Given the description of an element on the screen output the (x, y) to click on. 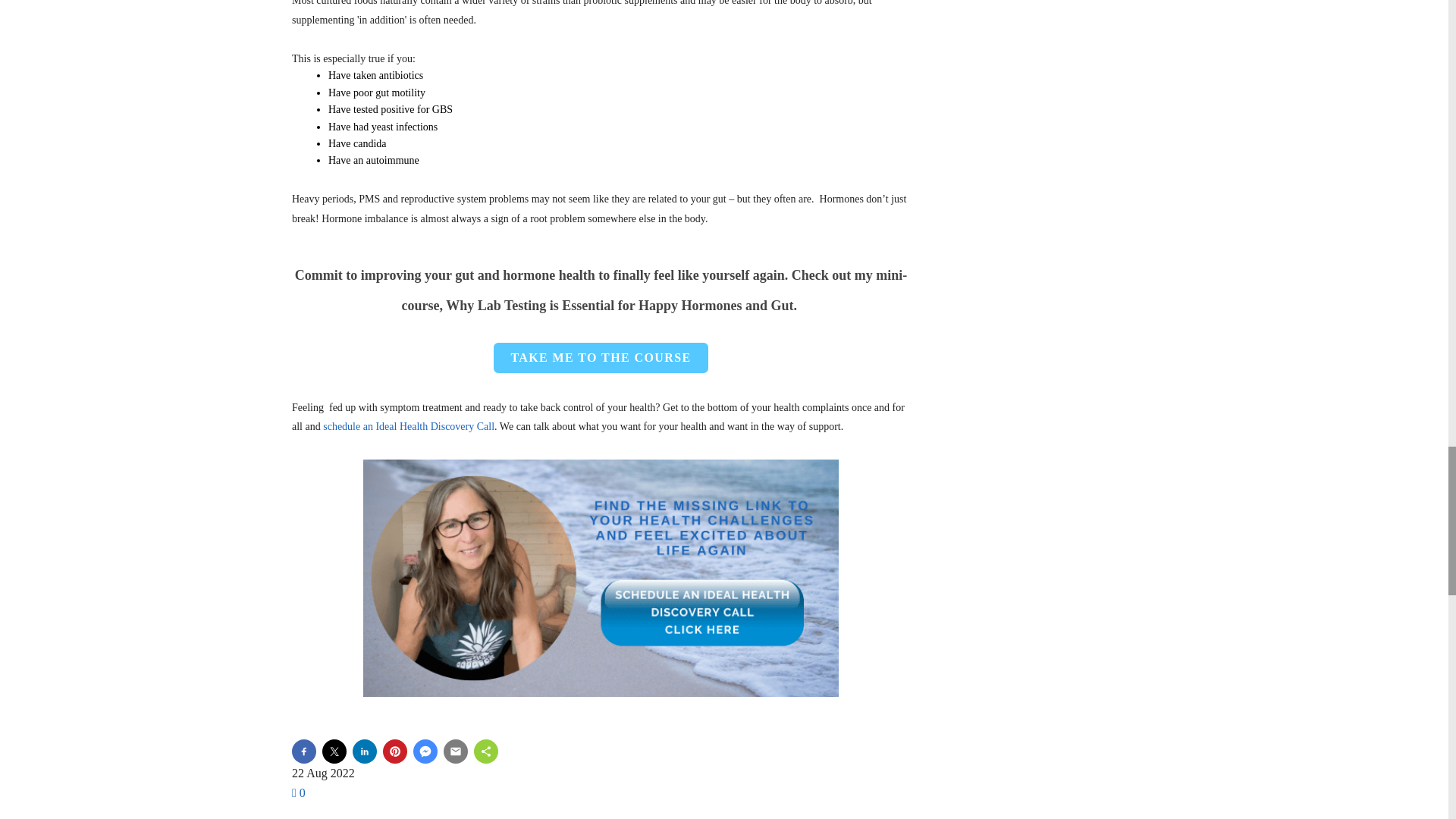
schedule an Ideal Health Discovery Call (409, 426)
0 (298, 792)
TAKE ME TO THE COURSE (600, 358)
